Given the description of an element on the screen output the (x, y) to click on. 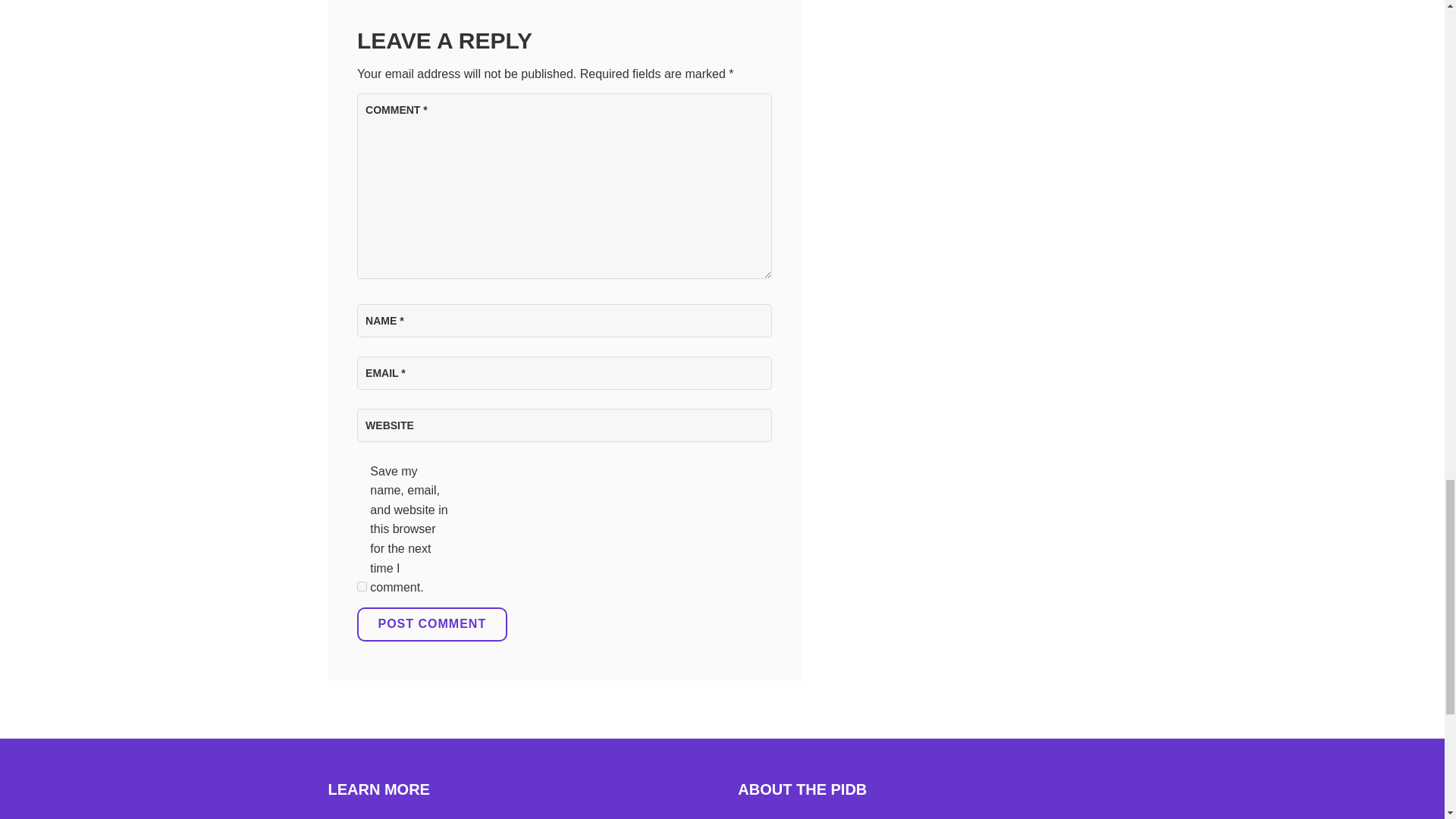
Post Comment (431, 623)
yes (361, 586)
Accessibility information on archives.gov (368, 817)
Post Comment (431, 623)
Accessibility (368, 817)
